Given the description of an element on the screen output the (x, y) to click on. 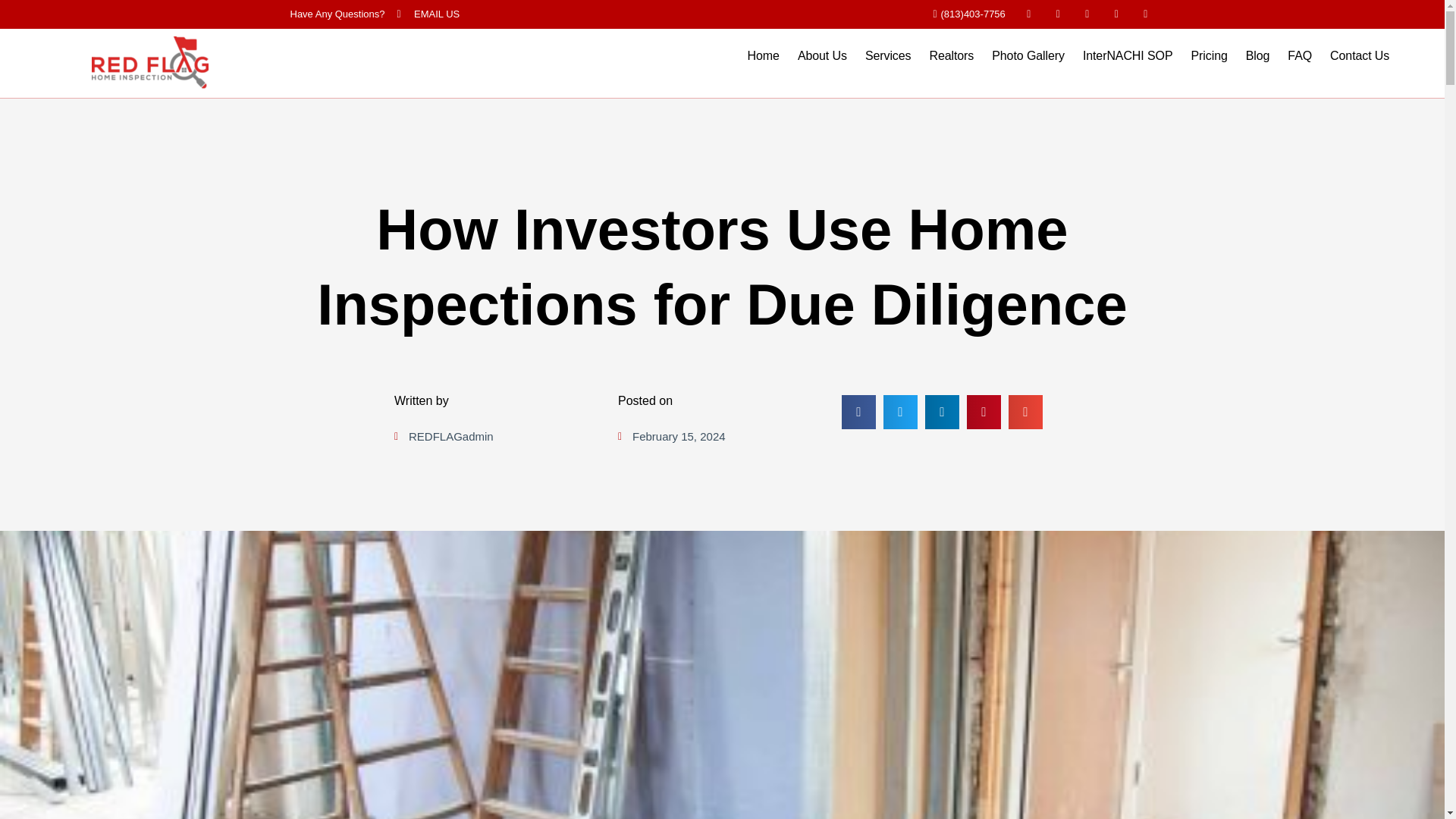
Pricing (1209, 56)
InterNACHI SOP (1128, 56)
Blog (1257, 56)
Contact Us (1358, 56)
REDFLAGadmin (443, 436)
February 15, 2024 (671, 436)
EMAIL US (428, 14)
Home (763, 56)
About Us (822, 56)
FAQ (1299, 56)
Services (888, 56)
Photo Gallery (1028, 56)
Realtors (951, 56)
